Given the description of an element on the screen output the (x, y) to click on. 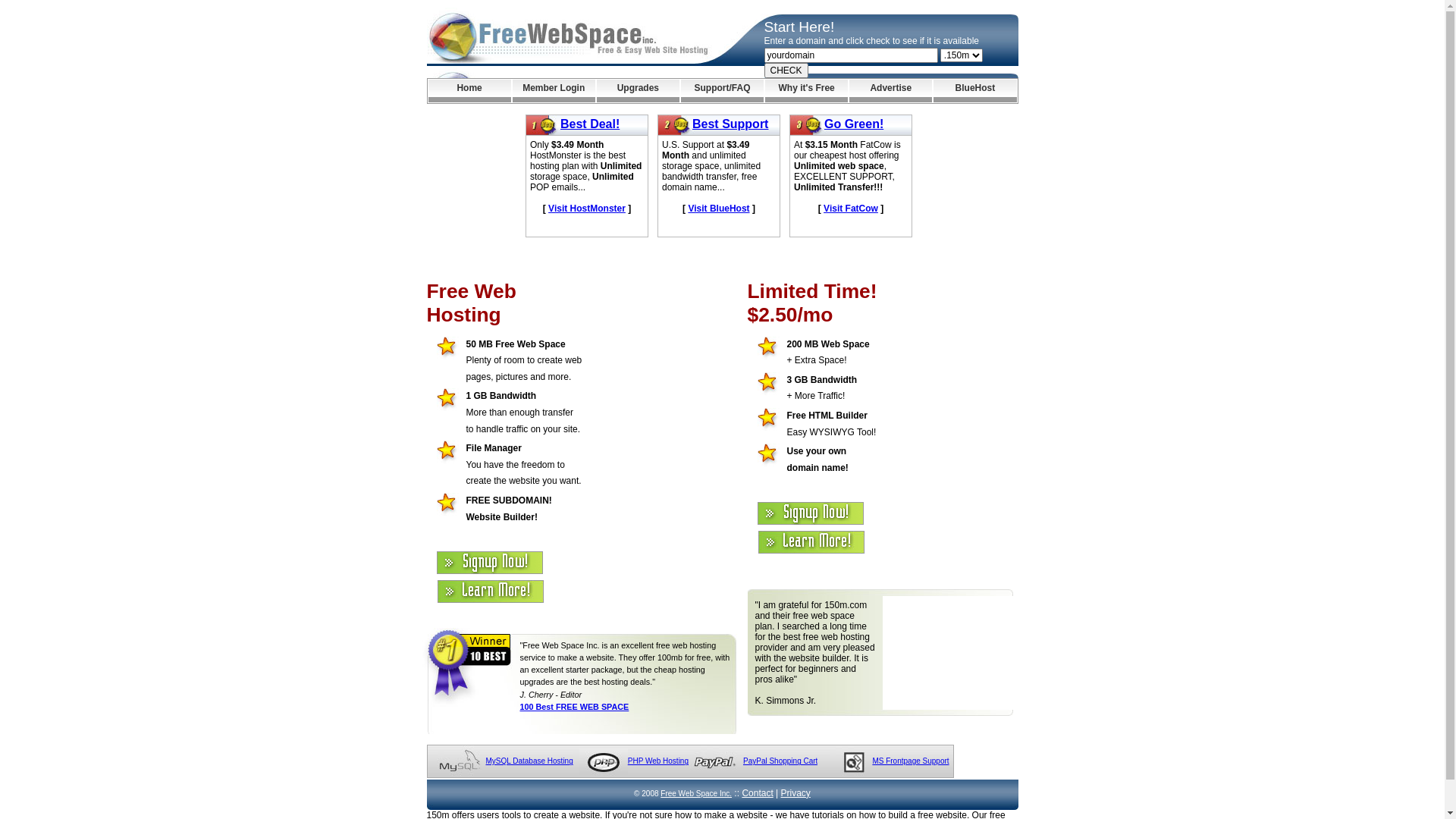
Support/FAQ Element type: text (721, 90)
Home Element type: text (468, 90)
Why it's Free Element type: text (806, 90)
MS Frontpage Support Element type: text (910, 760)
Upgrades Element type: text (637, 90)
MySQL Database Hosting Element type: text (528, 760)
BlueHost Element type: text (974, 90)
Advertise Element type: text (890, 90)
CHECK Element type: text (786, 70)
Free Web Space Inc. Element type: text (695, 793)
PayPal Shopping Cart Element type: text (780, 760)
Privacy Element type: text (795, 792)
PHP Web Hosting Element type: text (657, 760)
100 Best FREE WEB SPACE Element type: text (574, 706)
Member Login Element type: text (553, 90)
Contact Element type: text (756, 792)
